Given the description of an element on the screen output the (x, y) to click on. 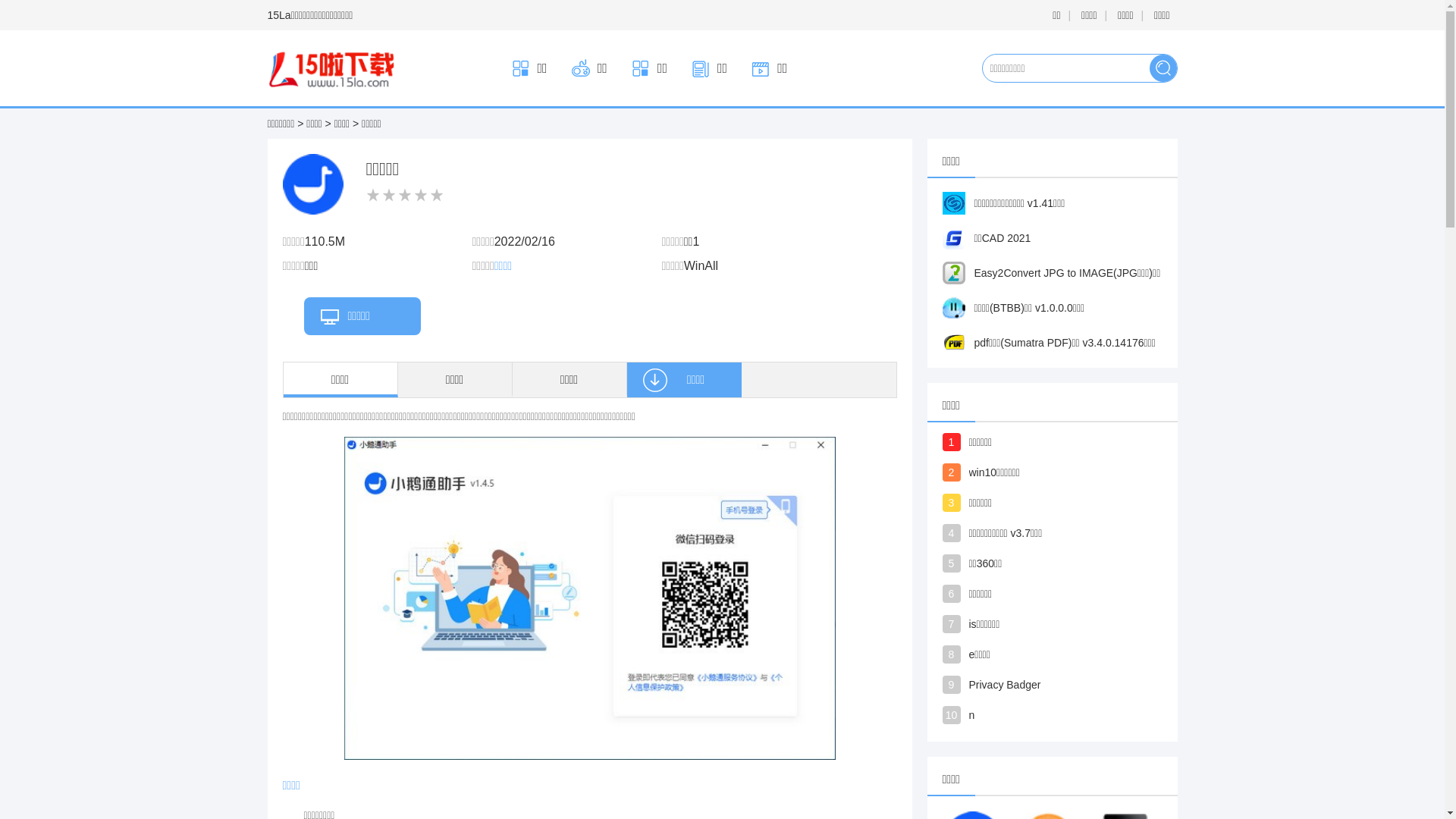
Privacy Badger Element type: text (1075, 682)
n Element type: text (1075, 713)
